Given the description of an element on the screen output the (x, y) to click on. 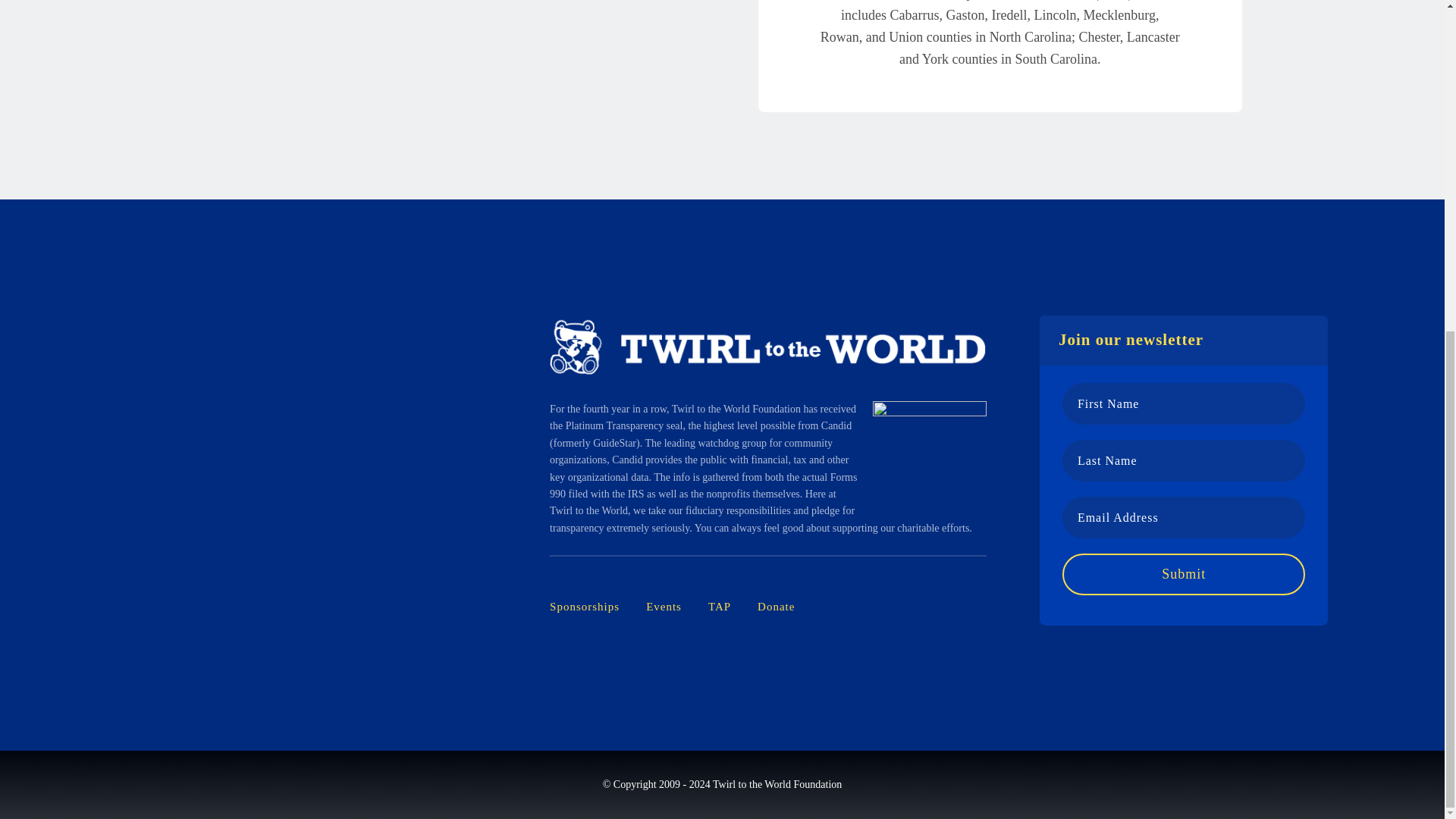
TAP (718, 606)
Sponsorships (585, 606)
Events (663, 606)
Submit (1184, 574)
Donate (775, 606)
Submit (1184, 574)
